Given the description of an element on the screen output the (x, y) to click on. 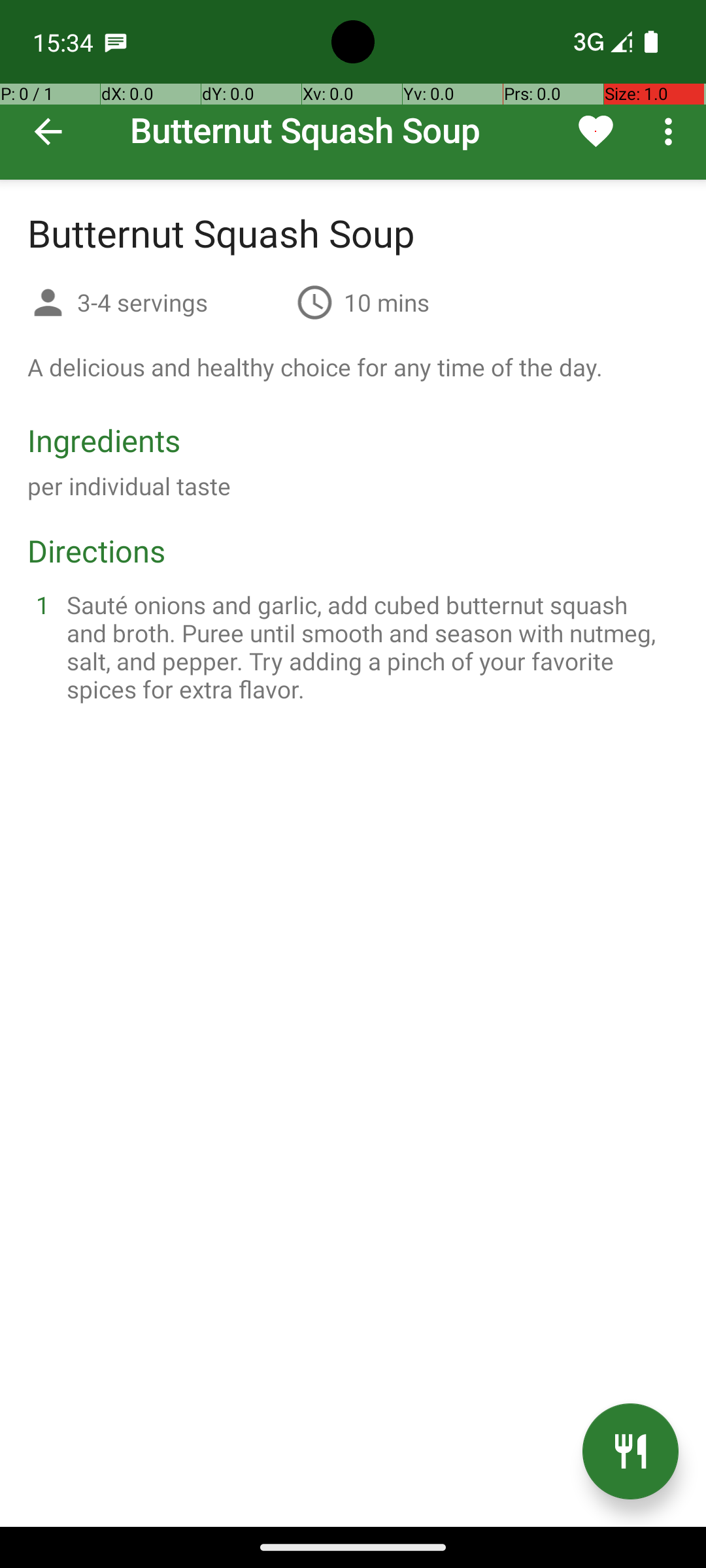
per individual taste Element type: android.widget.TextView (128, 485)
Sauté onions and garlic, add cubed butternut squash and broth. Puree until smooth and season with nutmeg, salt, and pepper. Try adding a pinch of your favorite spices for extra flavor. Element type: android.widget.TextView (368, 646)
